Given the description of an element on the screen output the (x, y) to click on. 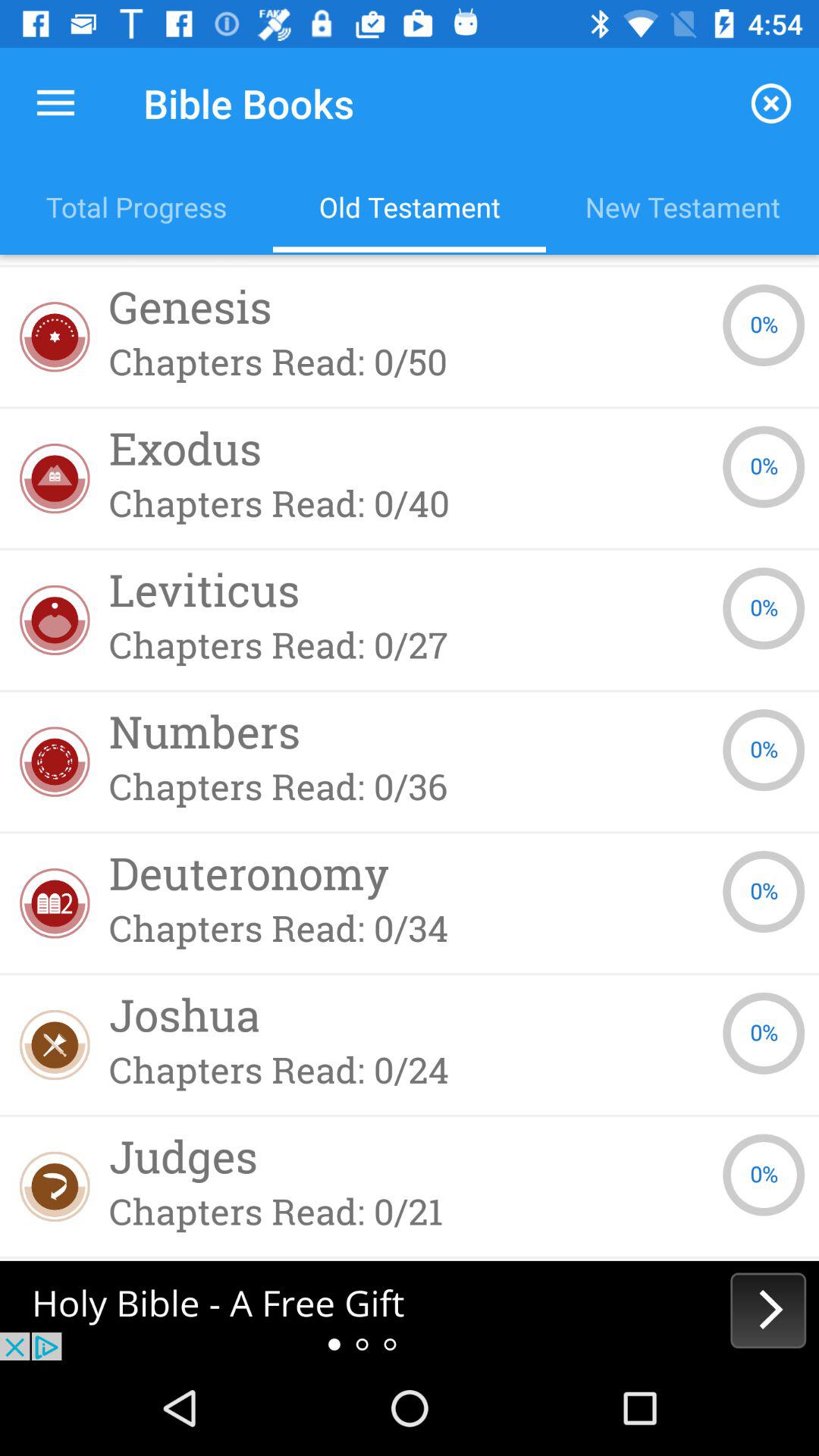
open webpage of displayed advertisement (409, 1310)
